Given the description of an element on the screen output the (x, y) to click on. 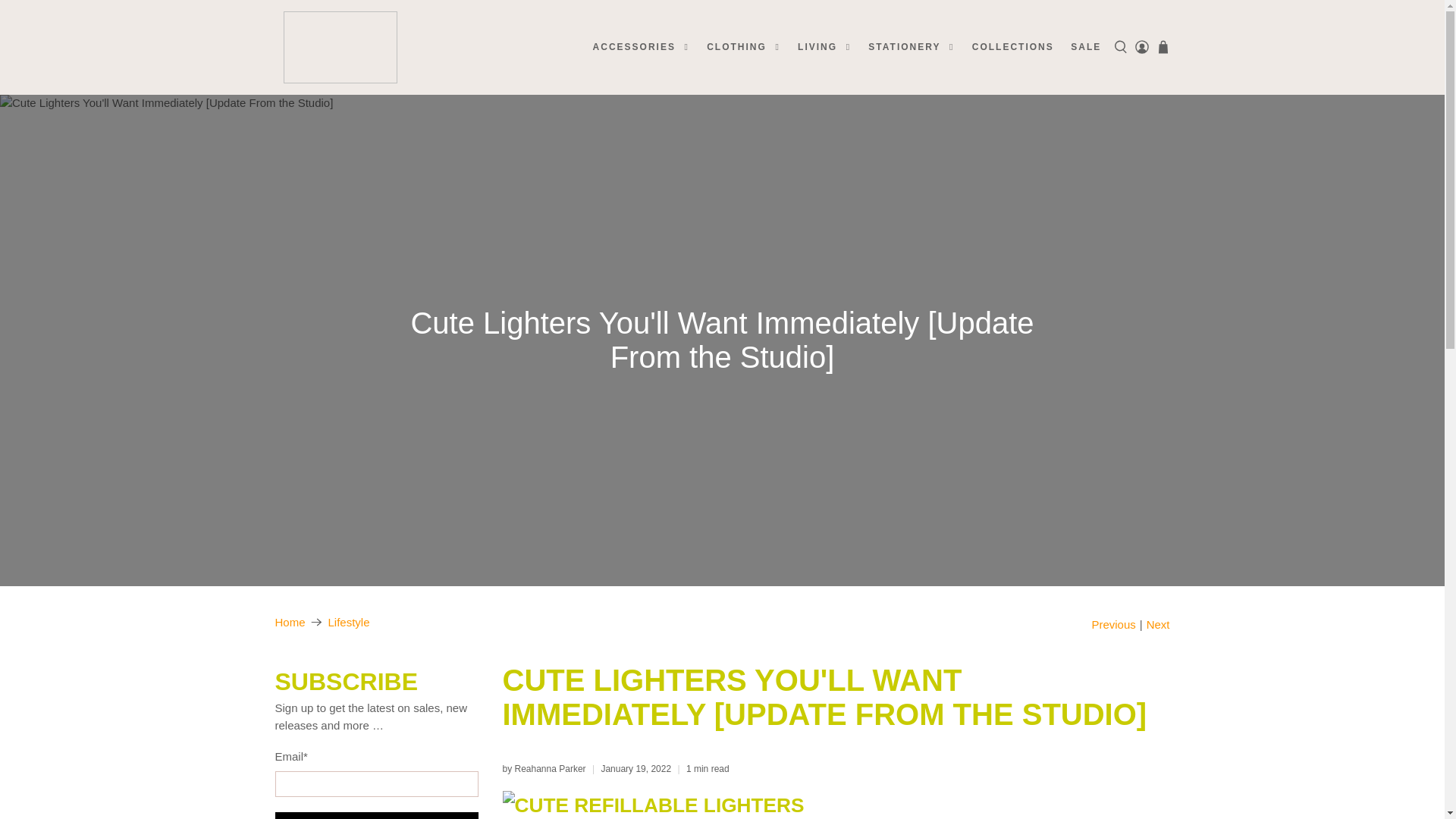
CLOTHING (743, 46)
Next (1158, 624)
Naked Eye Studio (289, 622)
LIVING (824, 46)
Lifestyle (349, 622)
COLLECTIONS (1012, 46)
Previous (1112, 624)
SALE (1085, 46)
ACCESSORIES (640, 46)
Naked Eye Studio (340, 47)
